Given the description of an element on the screen output the (x, y) to click on. 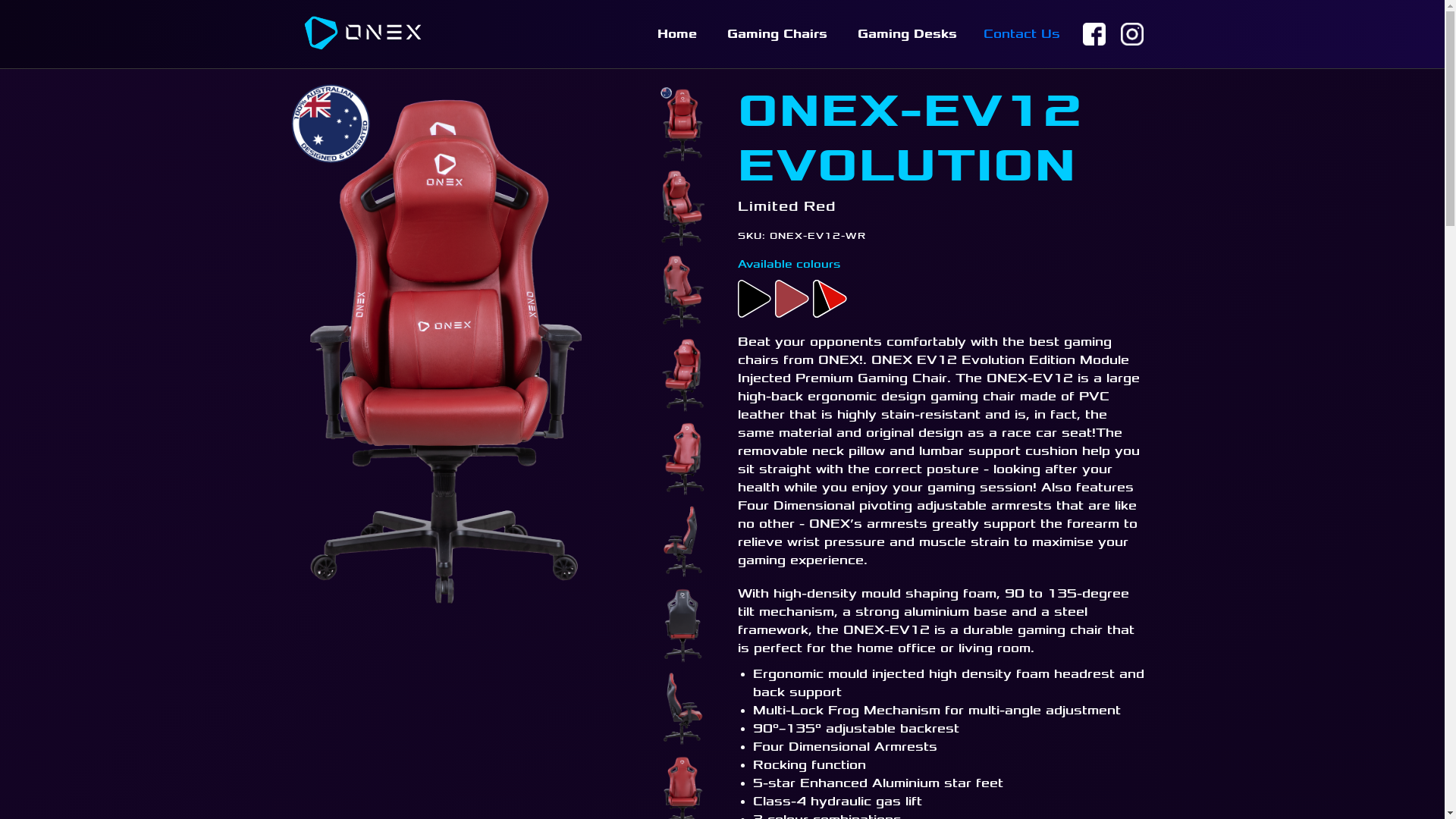
Gaming Desks Element type: text (906, 34)
Contact Us Element type: text (1020, 34)
Gaming Chairs Element type: text (776, 34)
Home Element type: text (676, 34)
